Given the description of an element on the screen output the (x, y) to click on. 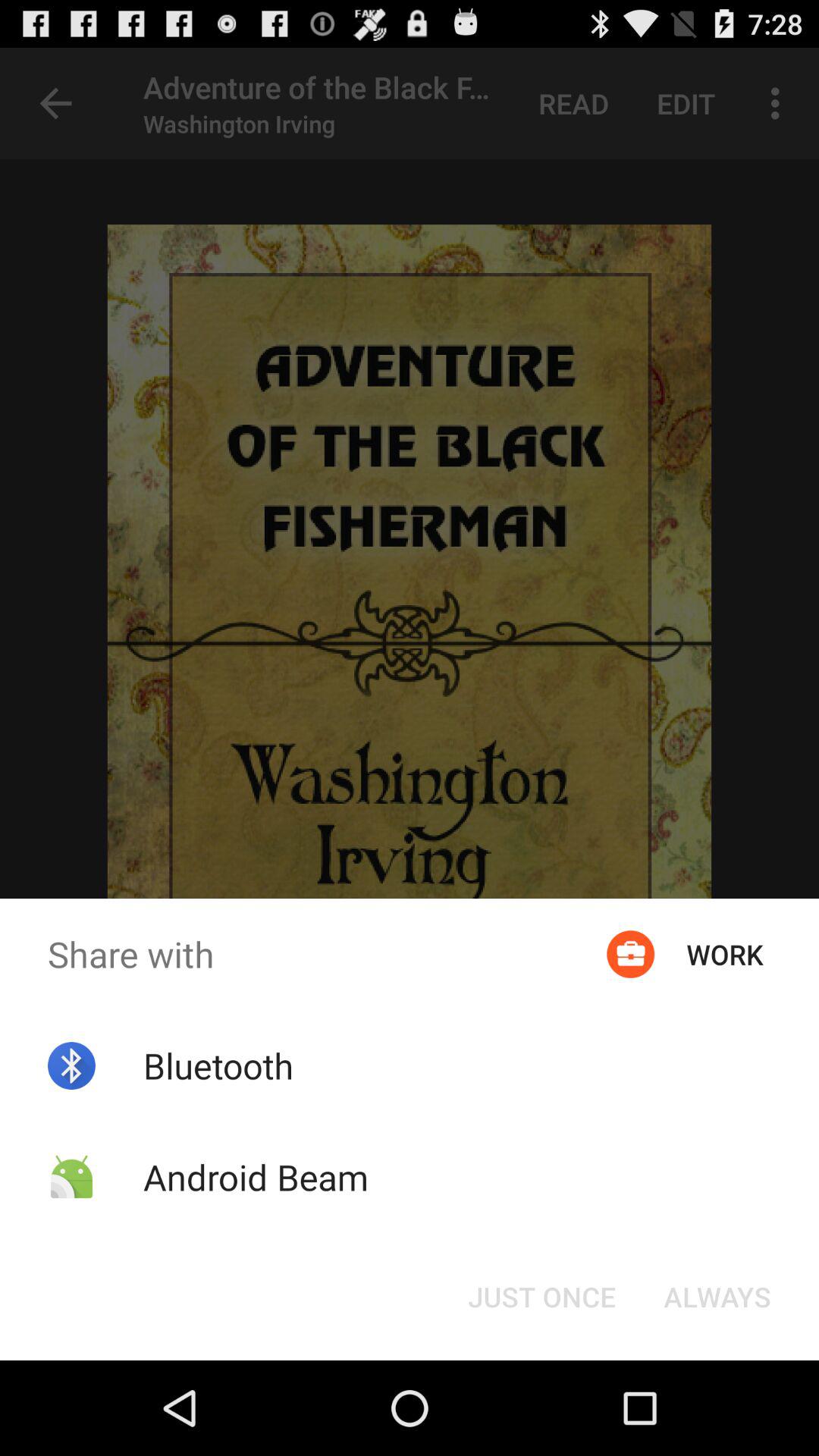
flip to the always button (717, 1296)
